Given the description of an element on the screen output the (x, y) to click on. 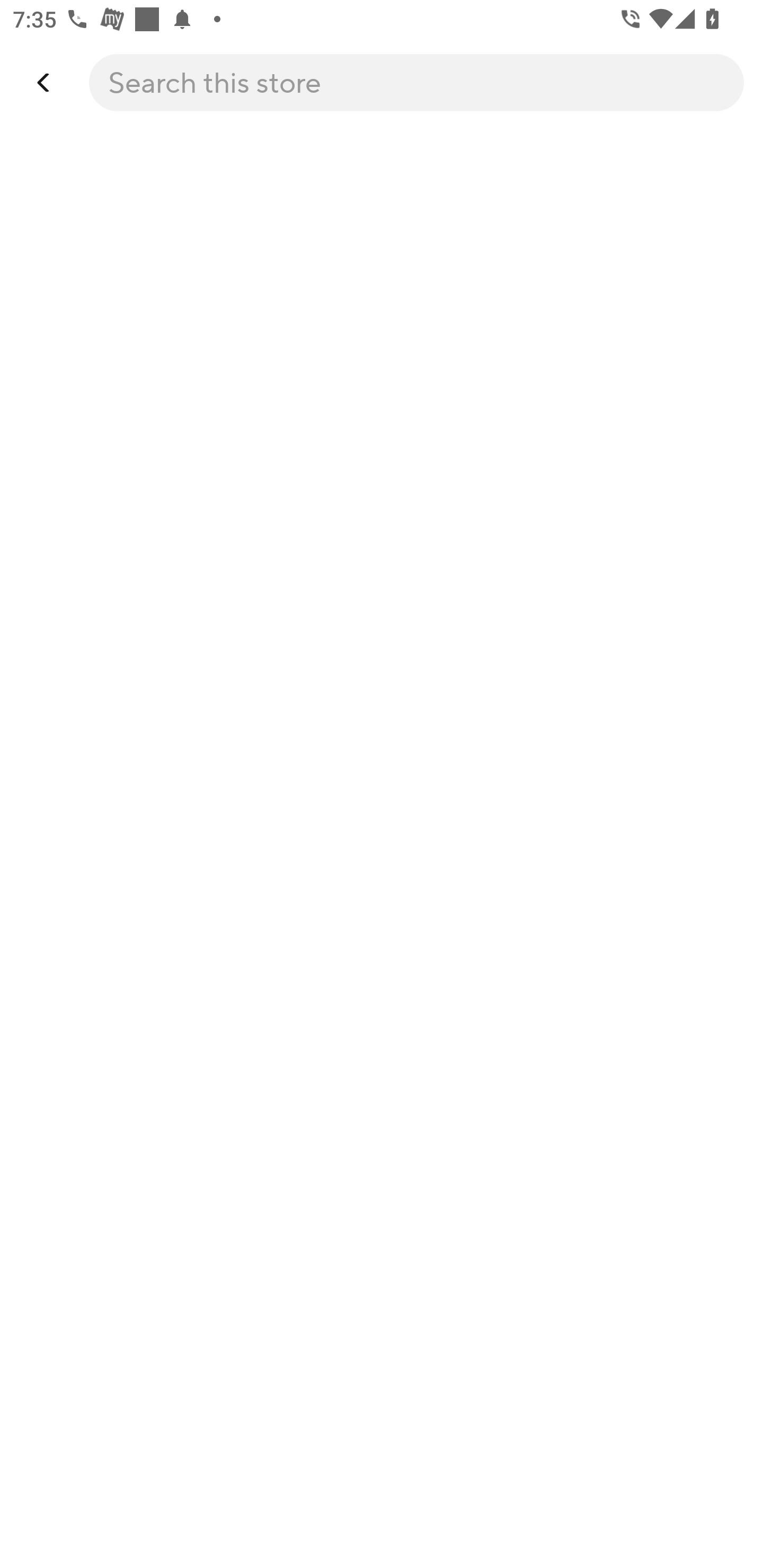
Search this store Search query (384, 82)
